Given the description of an element on the screen output the (x, y) to click on. 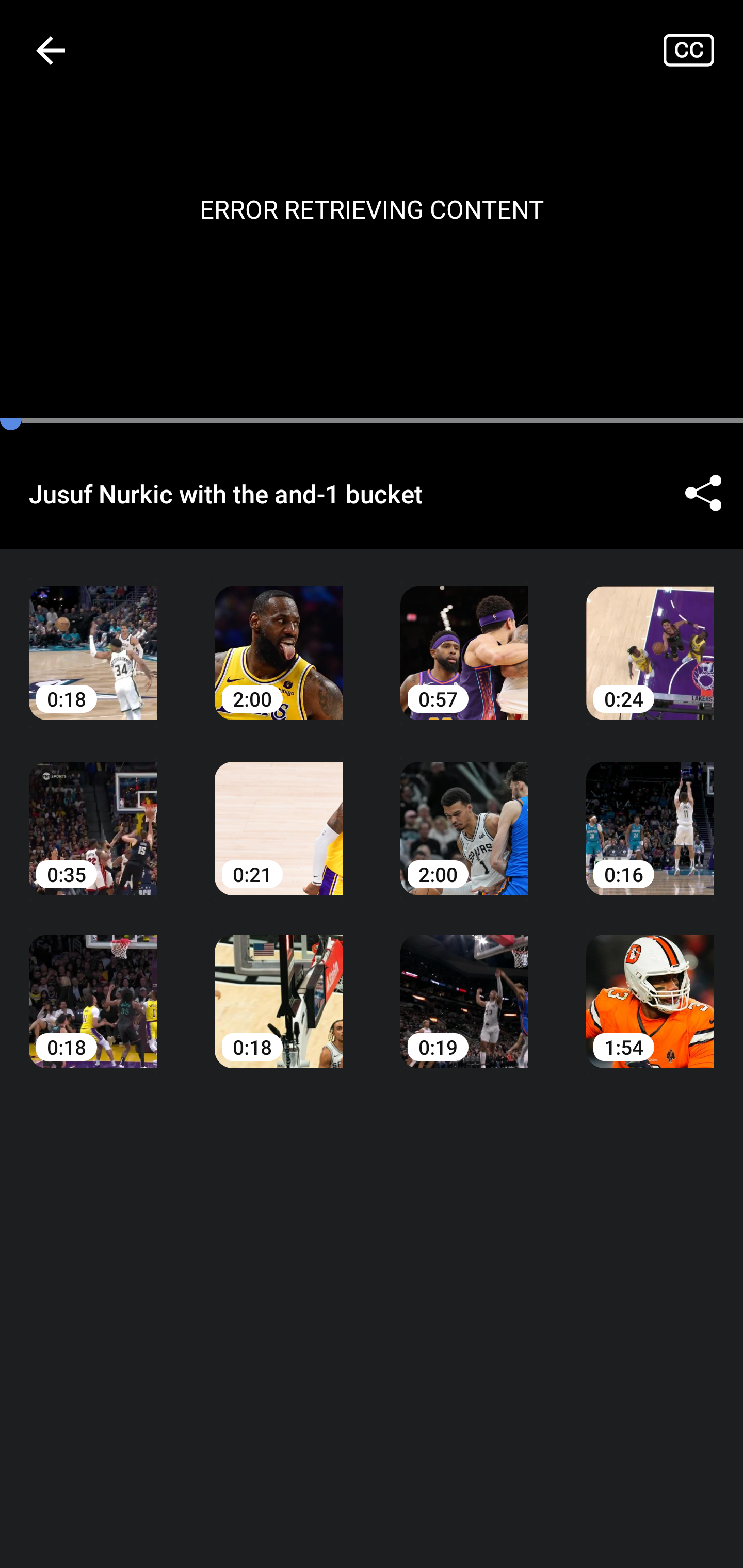
Navigate up (50, 50)
Closed captions  (703, 49)
Share © (703, 493)
0:18 (92, 637)
2:00 (278, 637)
0:57 (464, 637)
0:24 (650, 637)
0:35 (92, 813)
0:21 (278, 813)
2:00 (464, 813)
0:16 (650, 813)
0:18 (92, 987)
0:18 (278, 987)
0:19 (464, 987)
1:54 (650, 987)
